Given the description of an element on the screen output the (x, y) to click on. 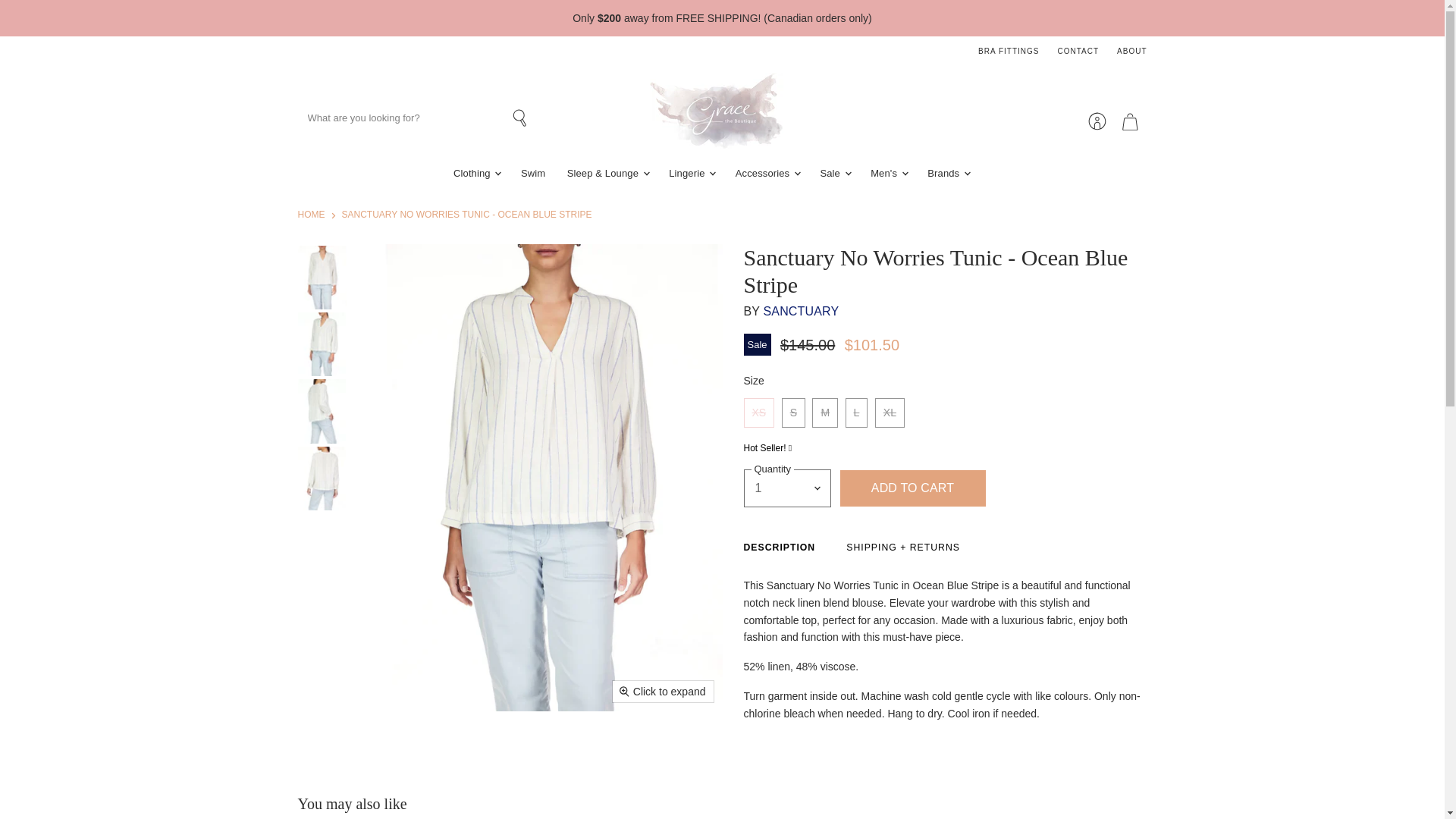
View cart (1130, 121)
ABOUT (1131, 51)
Clothing (476, 173)
Swim (533, 173)
BRA FITTINGS (1008, 51)
Sanctuary (800, 310)
View account (1096, 121)
CONTACT (1078, 51)
